Given the description of an element on the screen output the (x, y) to click on. 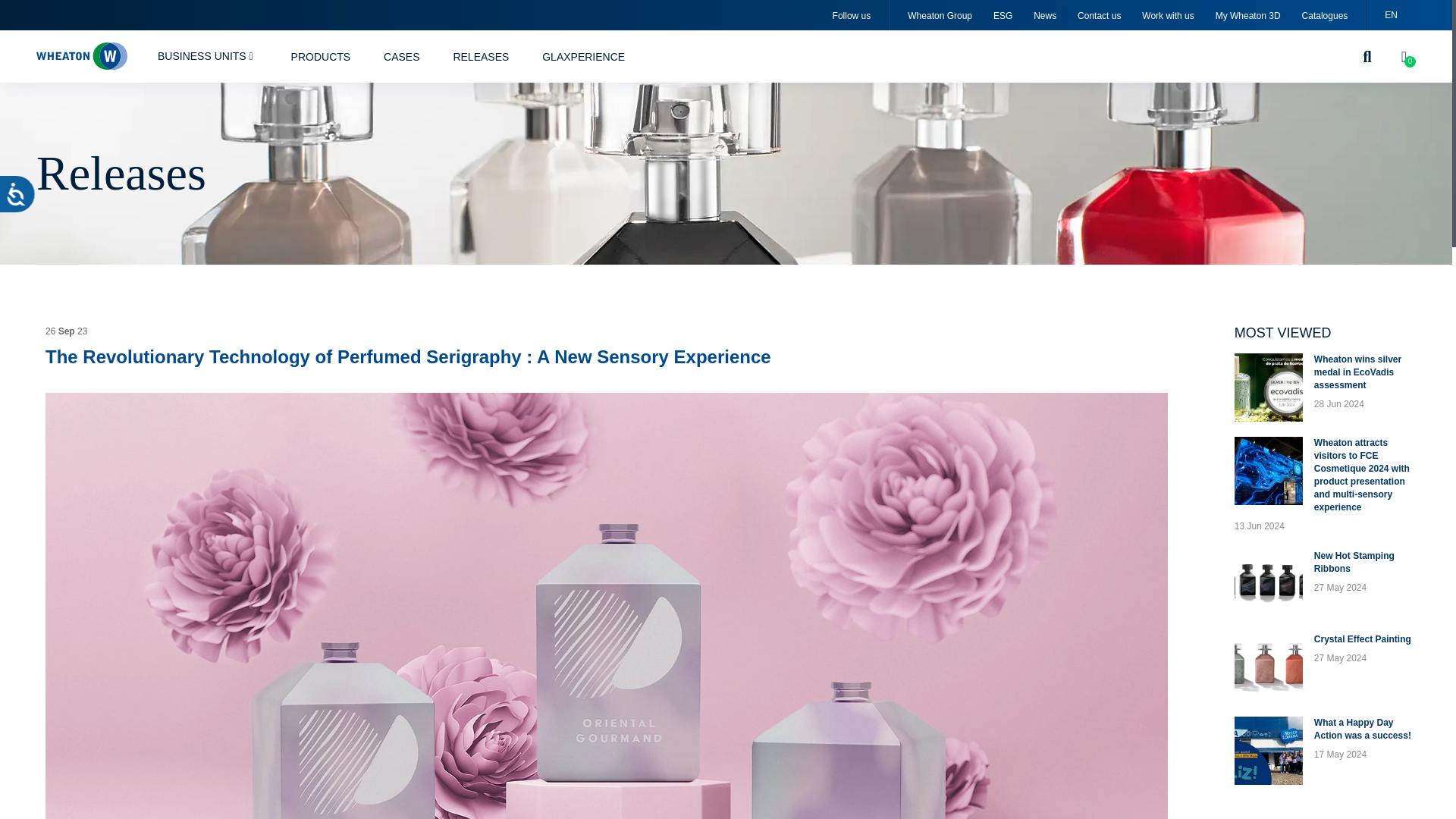
redes sociais (851, 15)
Acessibilidade (29, 206)
